Given the description of an element on the screen output the (x, y) to click on. 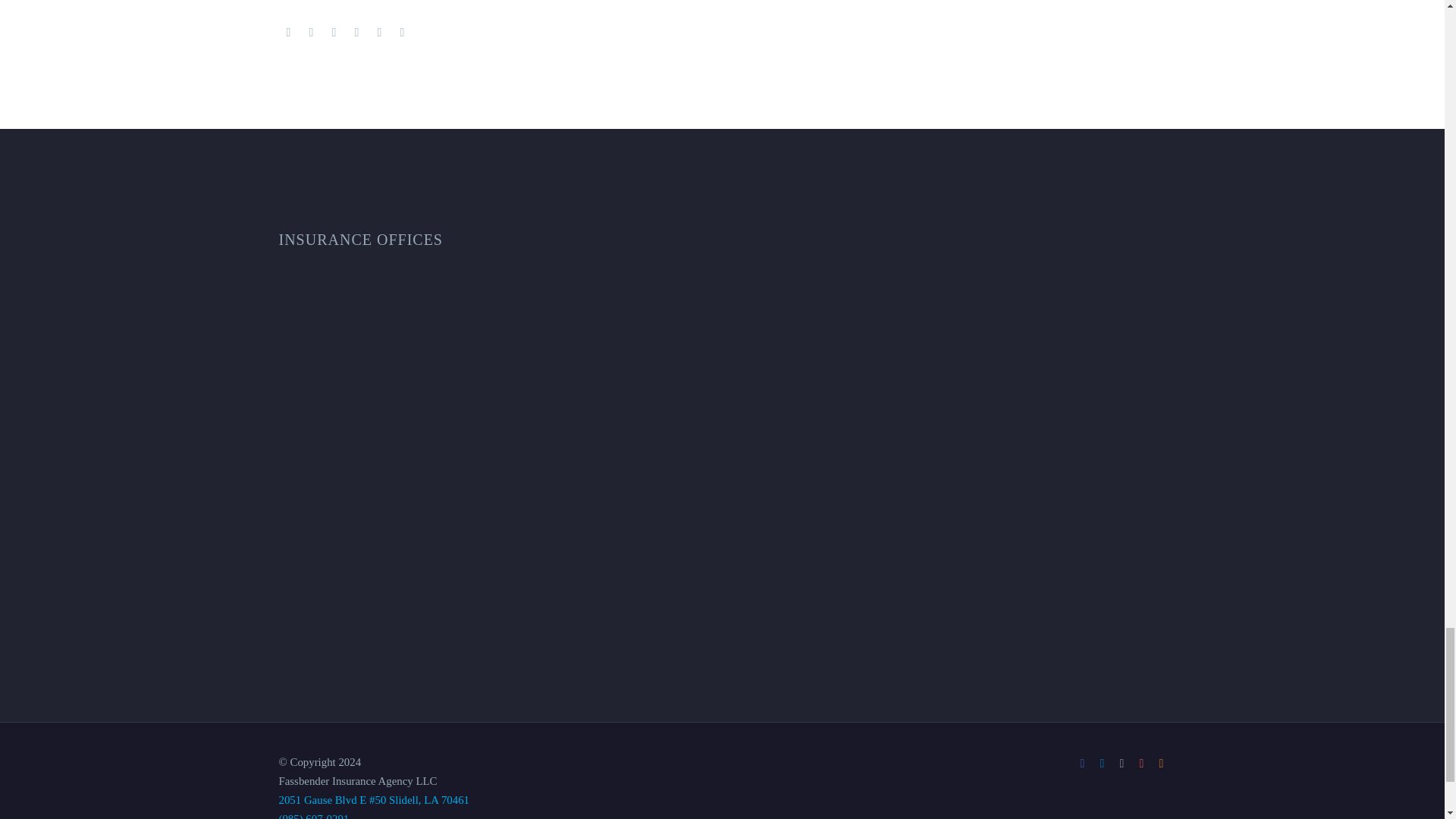
Facebook (288, 32)
Twitter (310, 32)
